Given the description of an element on the screen output the (x, y) to click on. 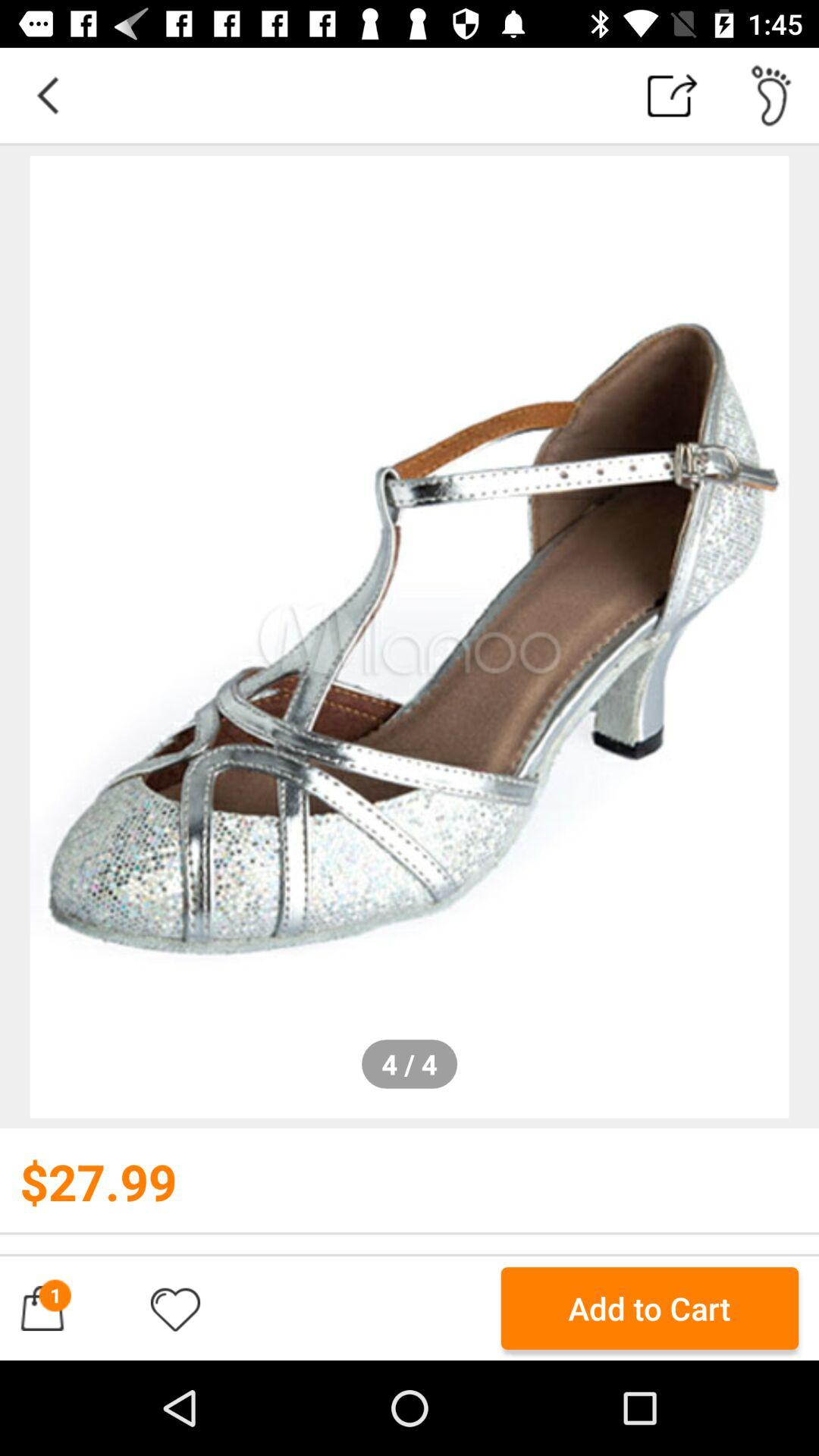
add to wishlist (175, 1308)
